Given the description of an element on the screen output the (x, y) to click on. 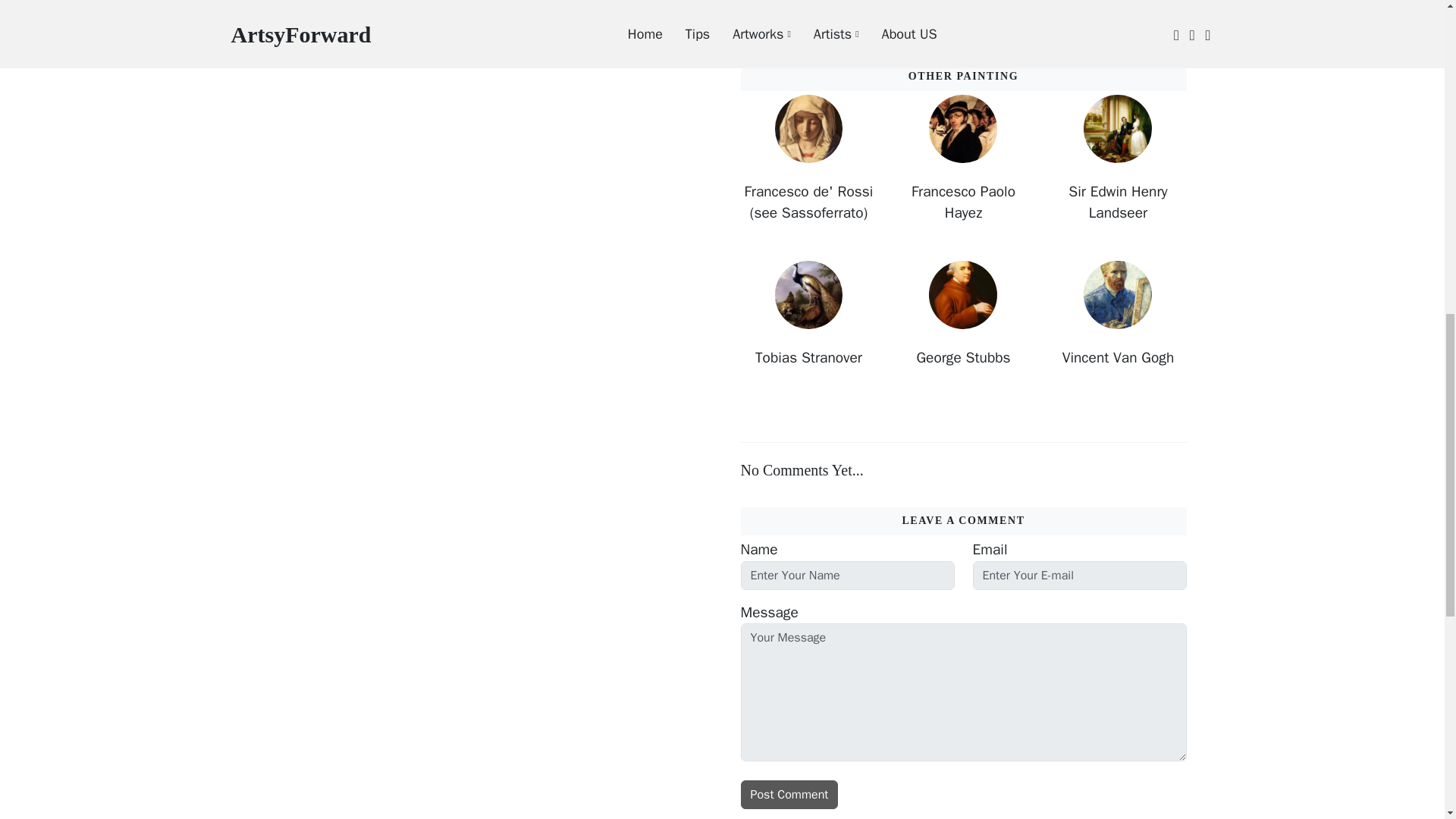
Post Comment (788, 794)
Francesco Paolo Hayez (962, 202)
Tobias Stranover (807, 358)
Sir Edwin Henry Landseer (1117, 202)
Post Comment (788, 794)
George Stubbs (962, 358)
Vincent Van Gogh (1117, 358)
